Given the description of an element on the screen output the (x, y) to click on. 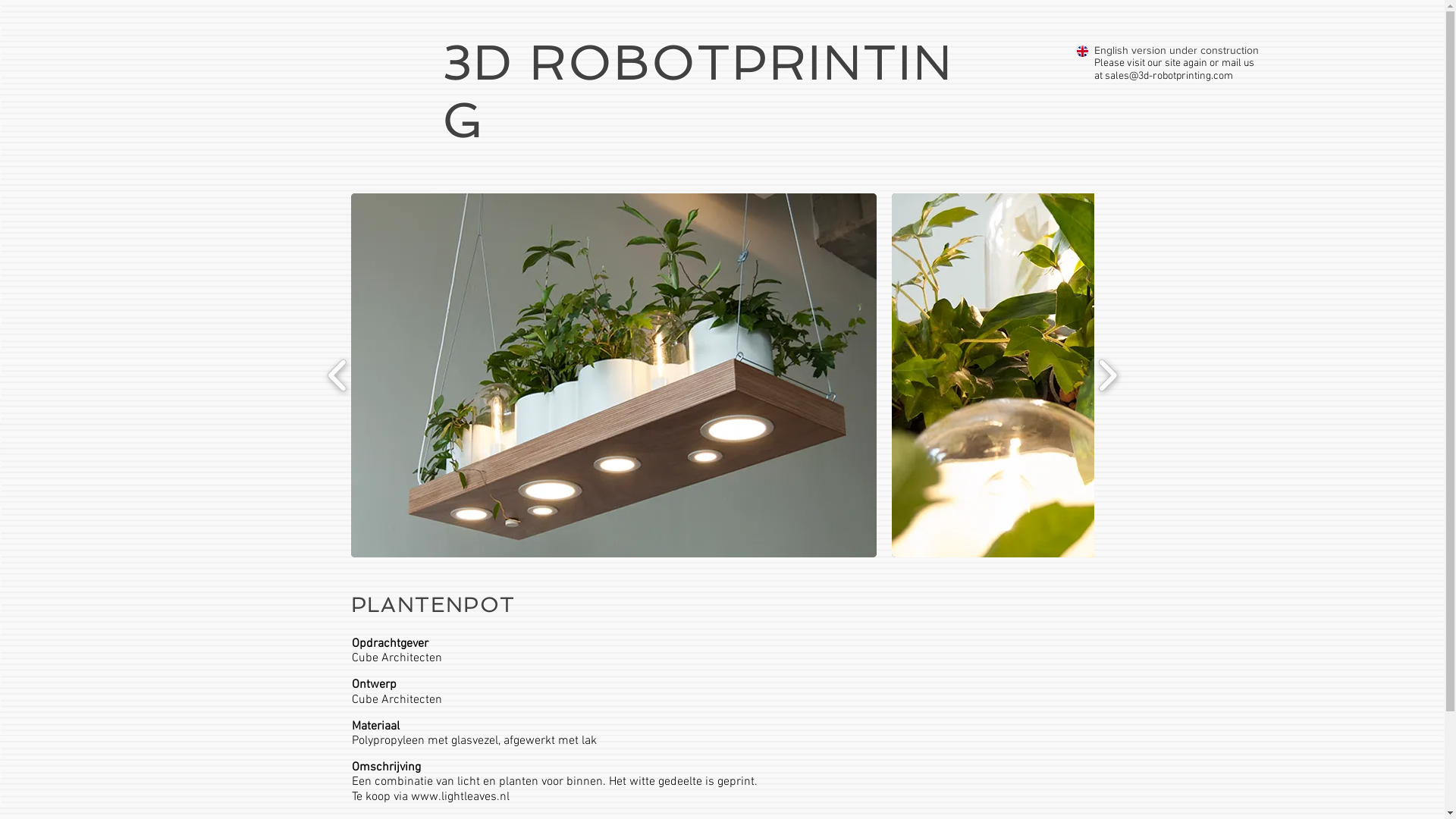
www.lightleaves.nl Element type: text (460, 795)
sales@3d-robotprinting.com Element type: text (1168, 75)
